Given the description of an element on the screen output the (x, y) to click on. 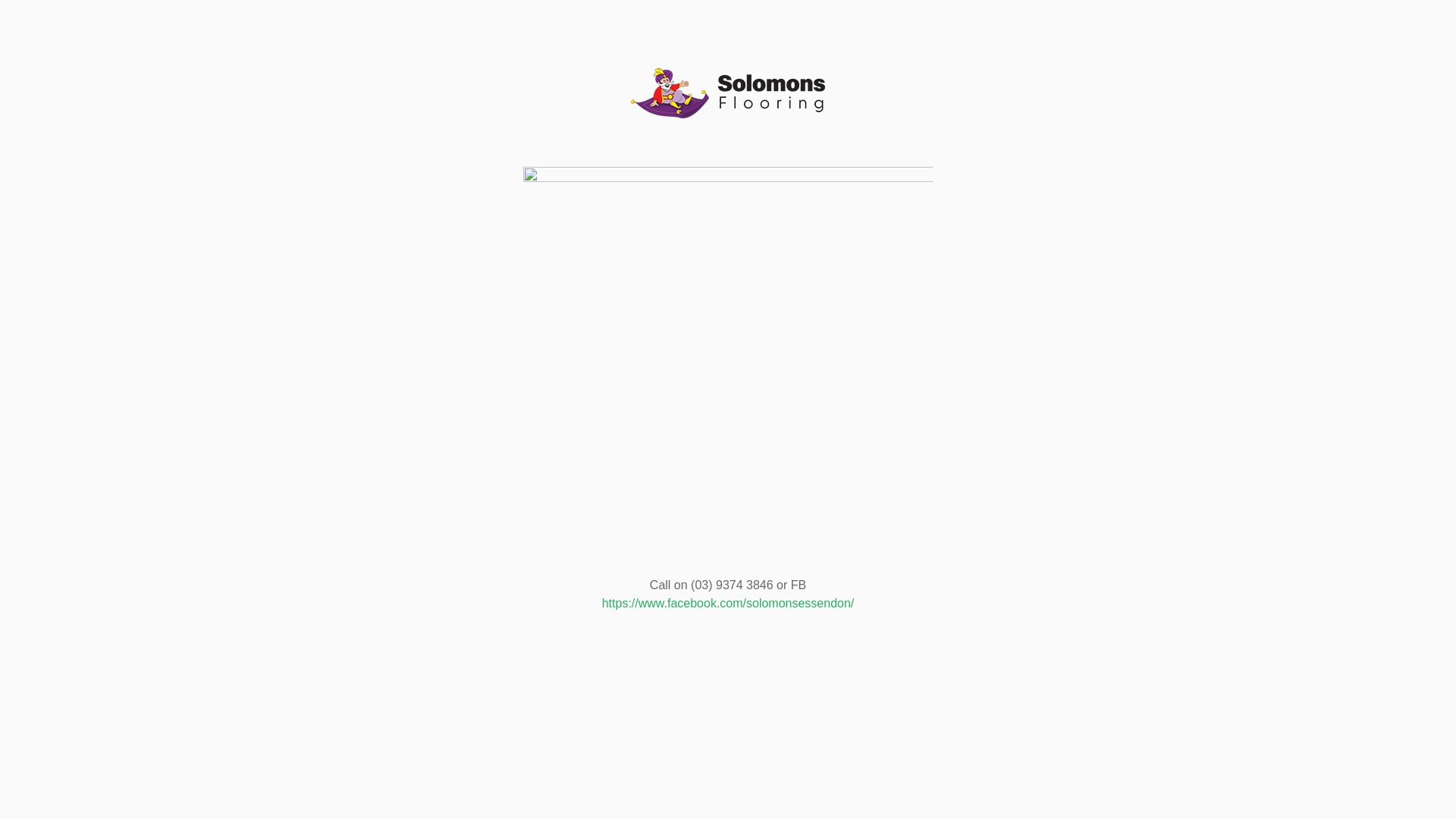
https://www.facebook.com/solomonsessendon/ Element type: text (728, 602)
